Given the description of an element on the screen output the (x, y) to click on. 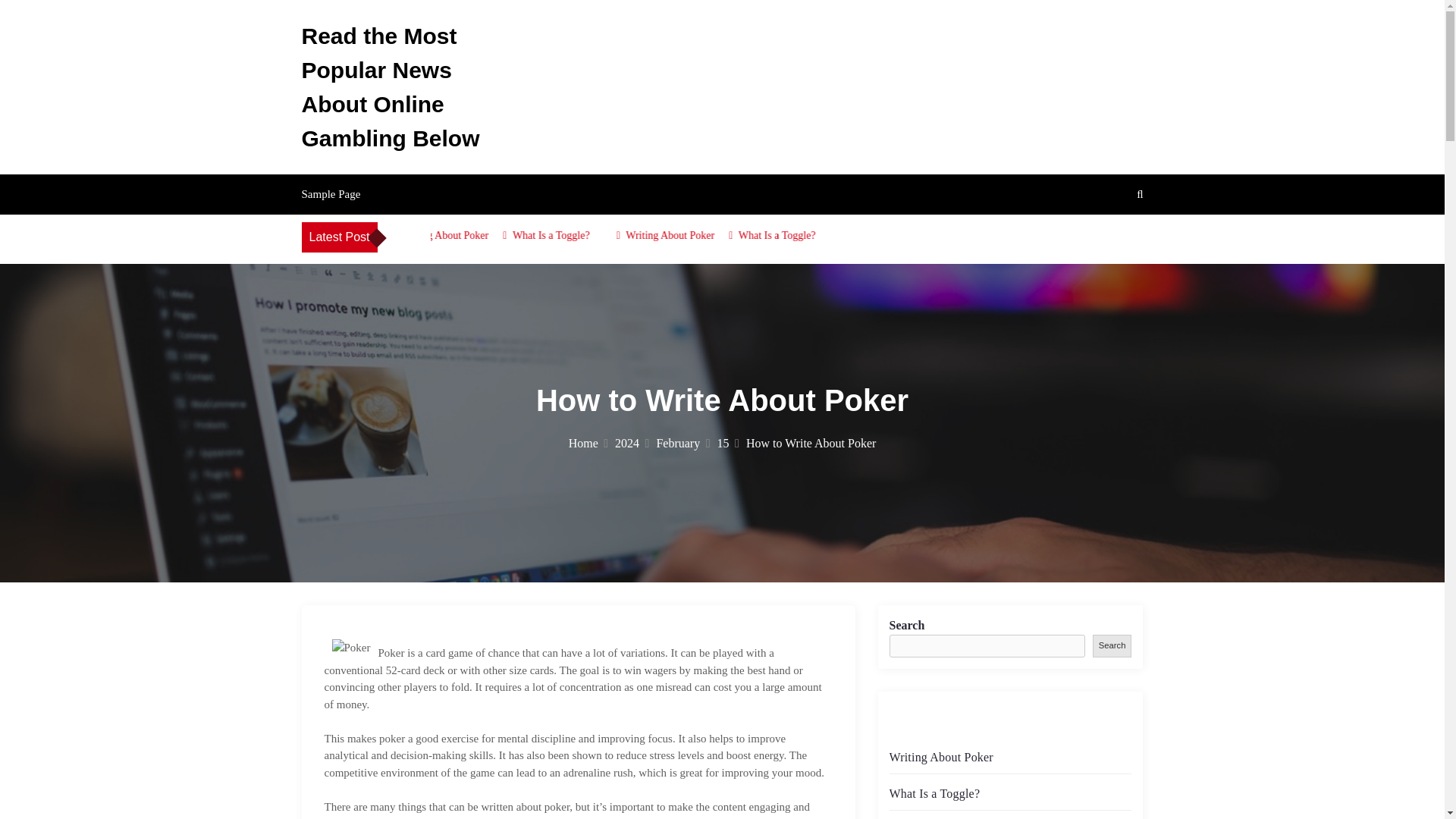
Search (1112, 645)
What Is a Toggle? (933, 793)
February (683, 442)
Writing About Poker (710, 234)
Writing About Poker (485, 234)
15 (728, 442)
Read the Most Popular News About Online Gambling Below (390, 86)
2024 (631, 442)
What Is a Toggle? (591, 234)
What Is a Toggle? (817, 234)
